Given the description of an element on the screen output the (x, y) to click on. 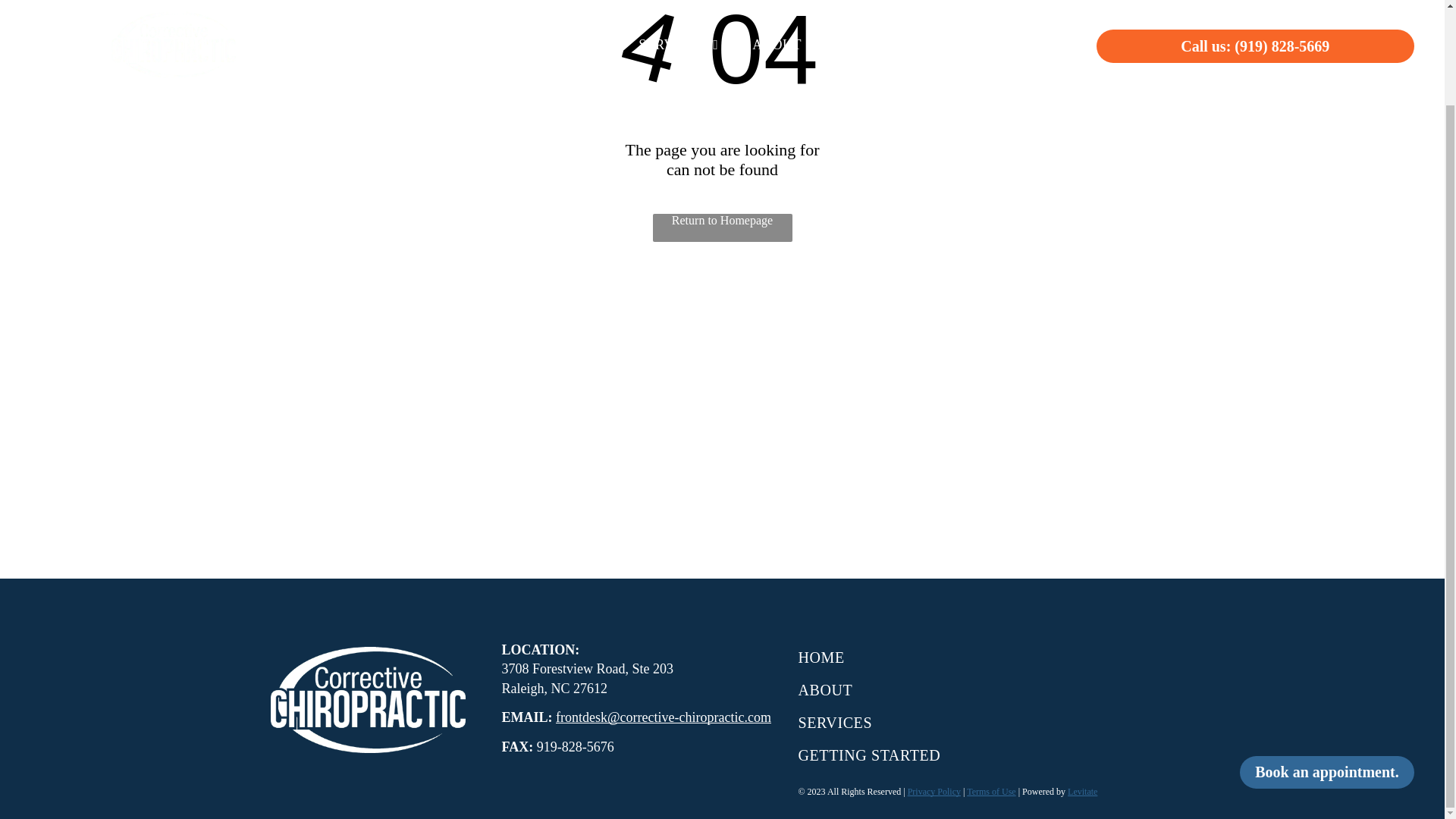
Book an appointment. (1326, 662)
Terms of Use (990, 791)
SERVICES (943, 722)
HOME (943, 657)
Privacy Policy (933, 791)
Levitate (1082, 791)
ABOUT (943, 690)
GETTING STARTED (943, 755)
Return to Homepage (722, 227)
